Given the description of an element on the screen output the (x, y) to click on. 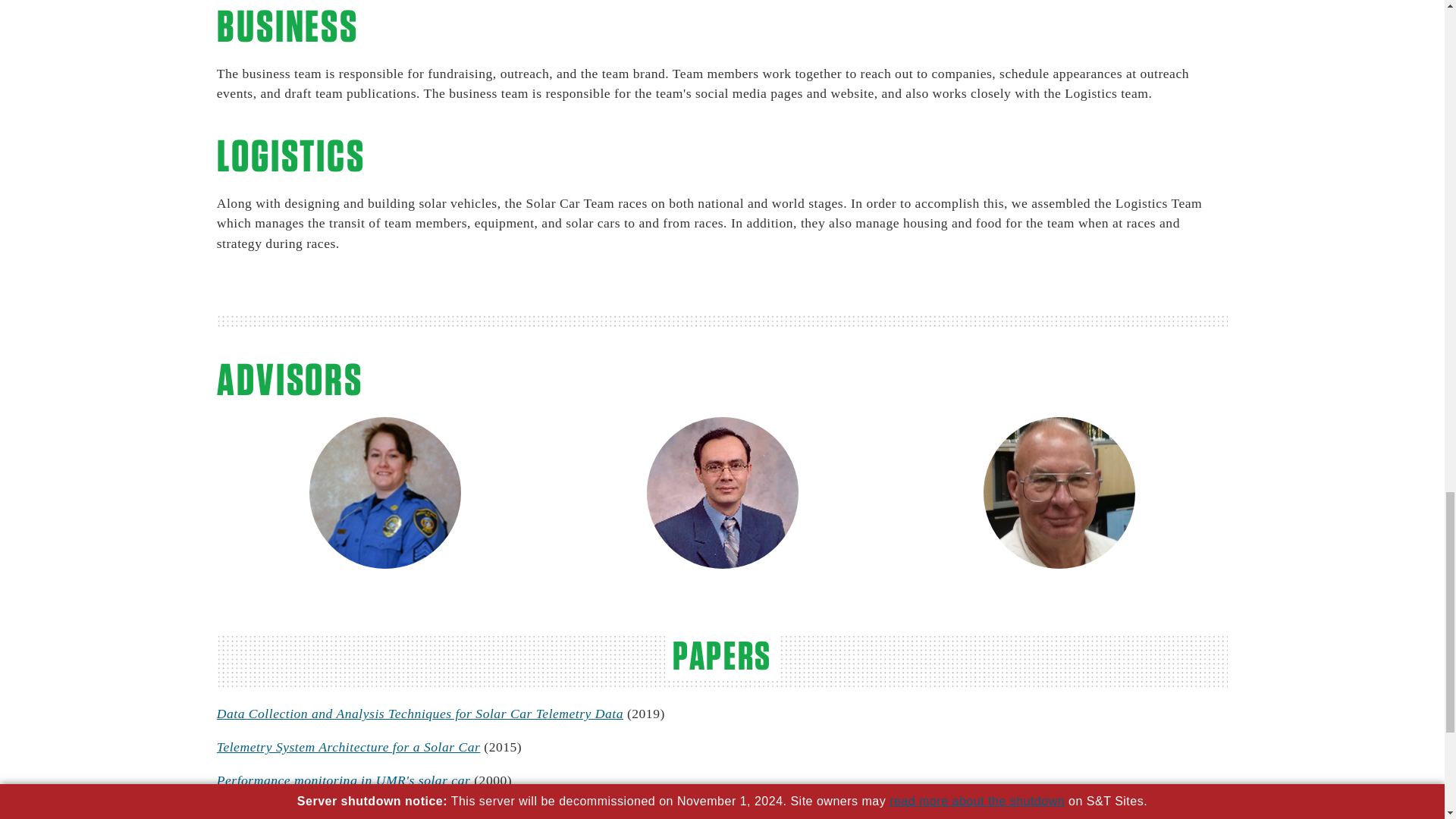
Telemetry System Architecture for a Solar Car (348, 746)
Performance monitoring in UMR's solar car (343, 780)
